Given the description of an element on the screen output the (x, y) to click on. 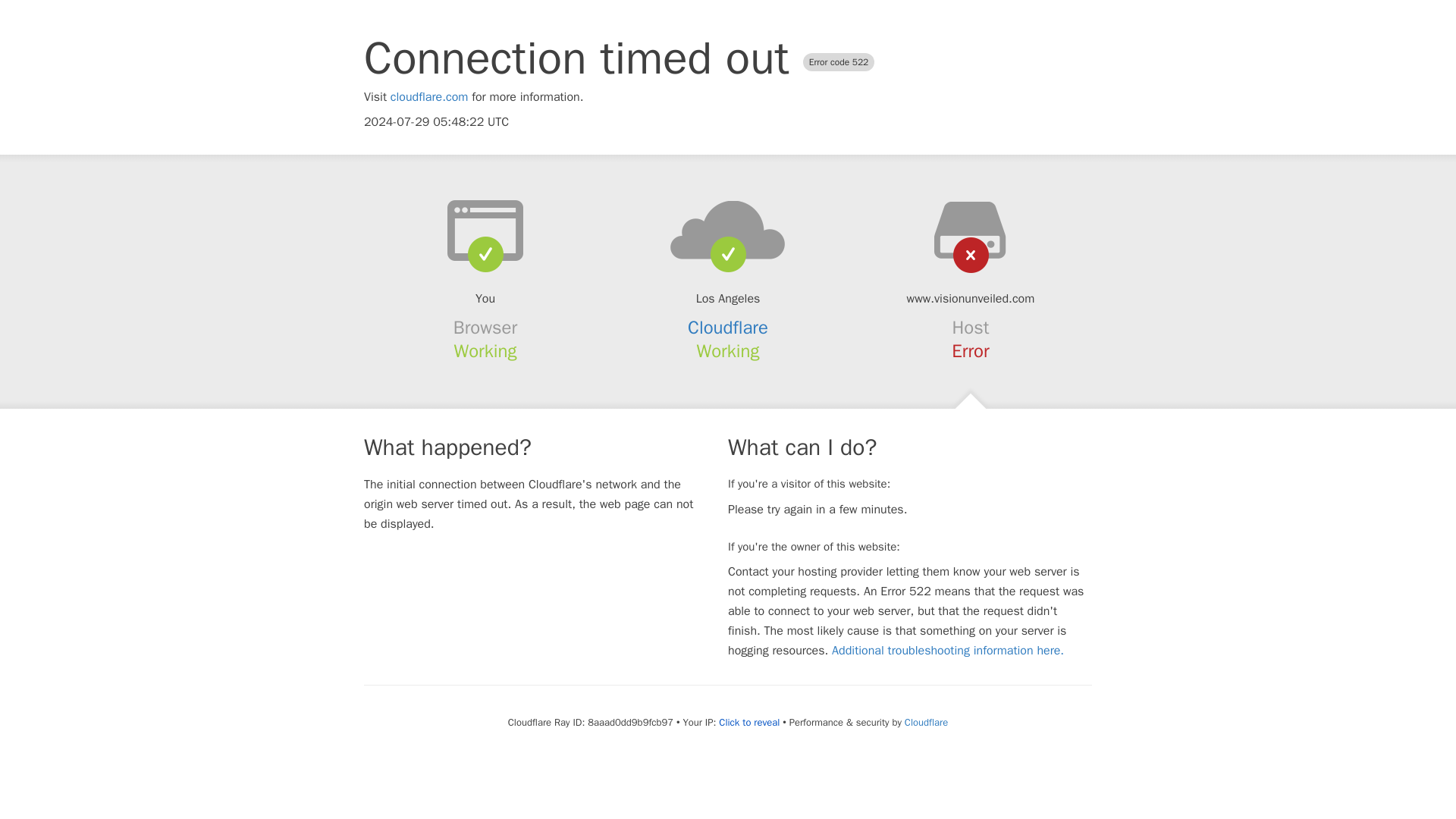
Cloudflare (727, 327)
Additional troubleshooting information here. (947, 650)
Cloudflare (925, 721)
cloudflare.com (429, 96)
Click to reveal (748, 722)
